Given the description of an element on the screen output the (x, y) to click on. 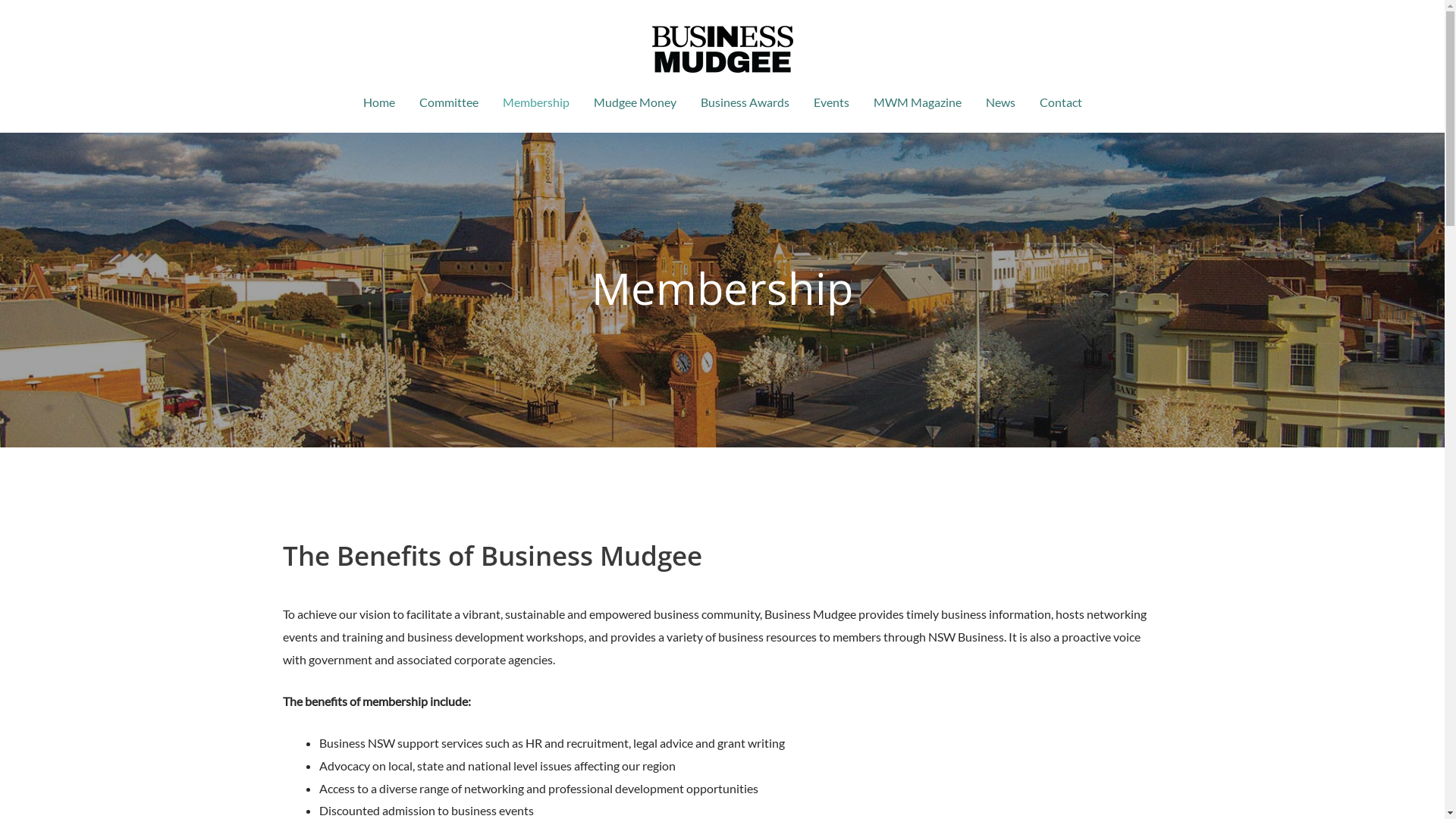
News Element type: text (1000, 102)
Business Awards Element type: text (744, 102)
Membership Element type: text (534, 102)
Home Element type: text (378, 102)
Committee Element type: text (447, 102)
Contact Element type: text (1059, 102)
MWM Magazine Element type: text (917, 102)
Mudgee Money Element type: text (633, 102)
Events Element type: text (830, 102)
